Given the description of an element on the screen output the (x, y) to click on. 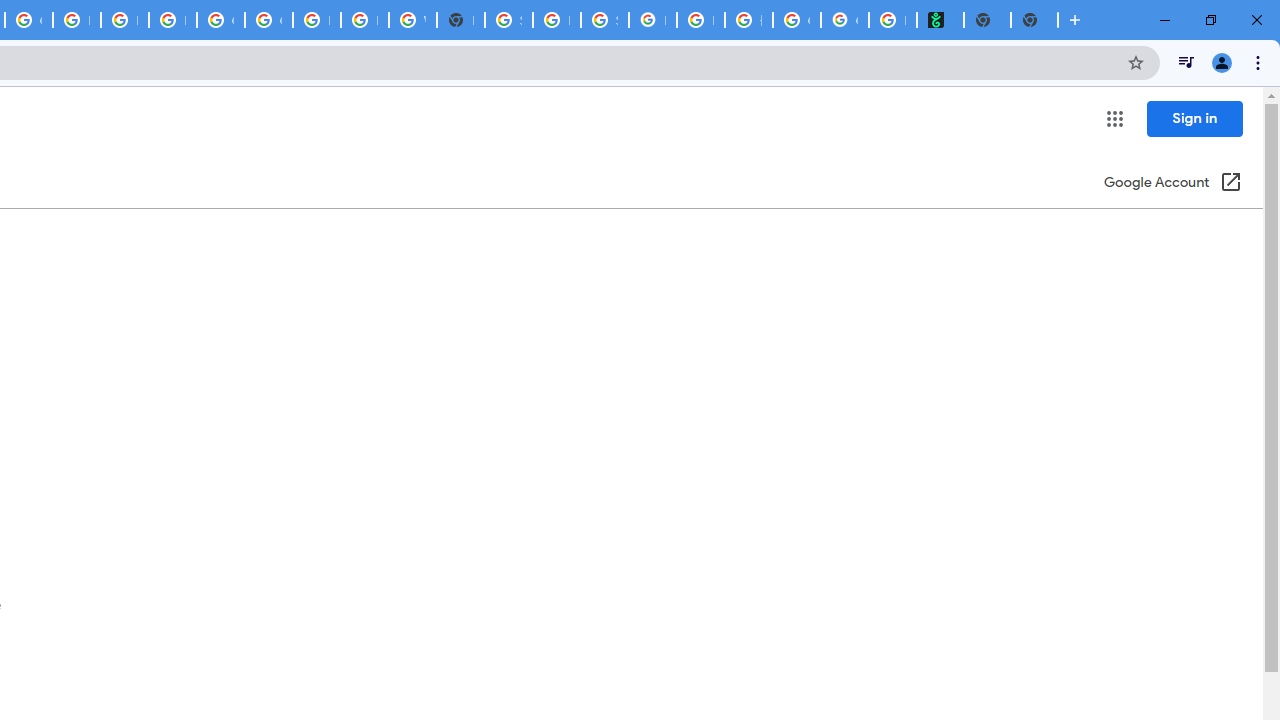
Google Cloud Platform (268, 20)
